Given the description of an element on the screen output the (x, y) to click on. 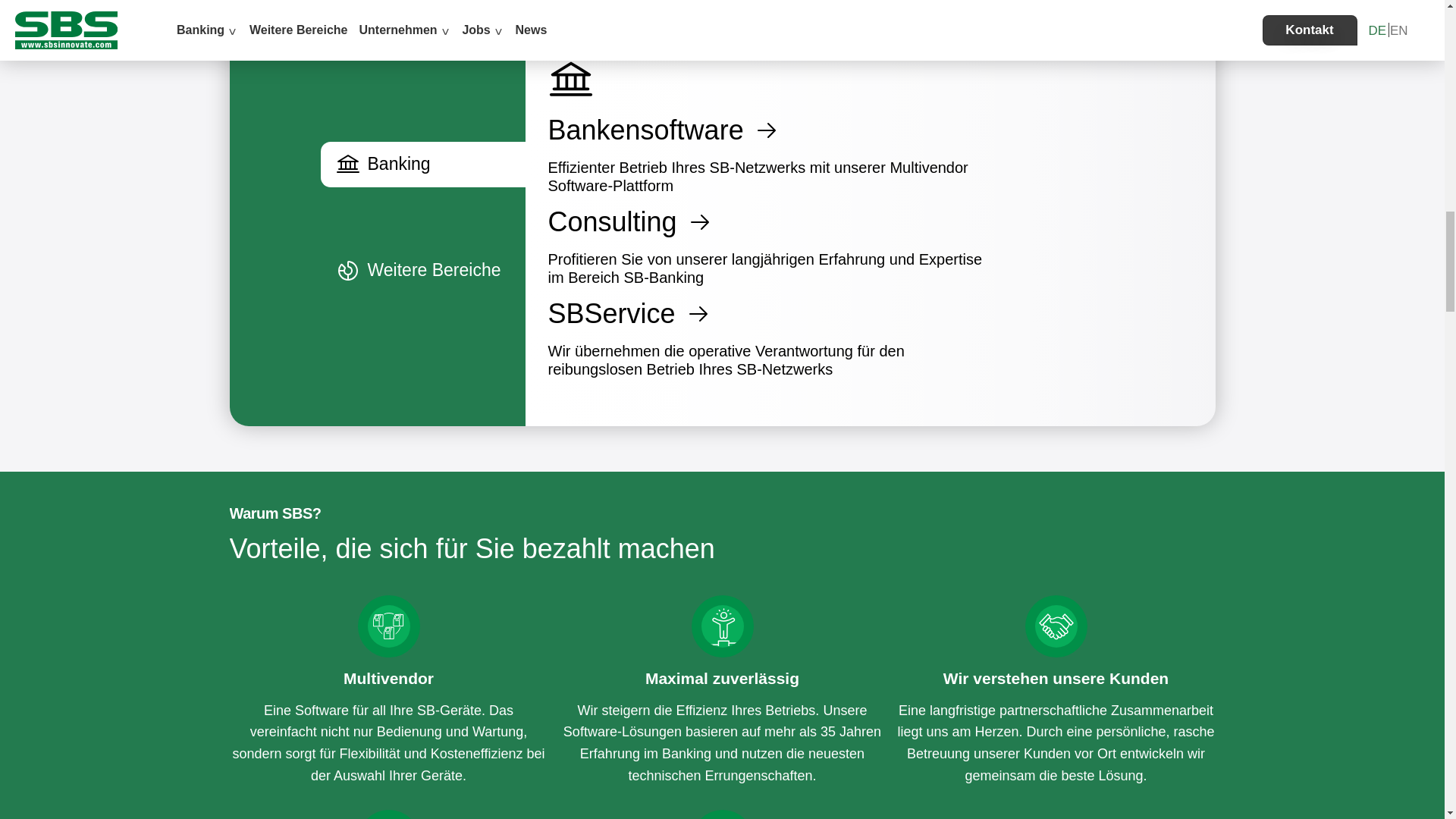
SBService (772, 314)
Bankensoftware (772, 130)
Consulting (772, 222)
